Given the description of an element on the screen output the (x, y) to click on. 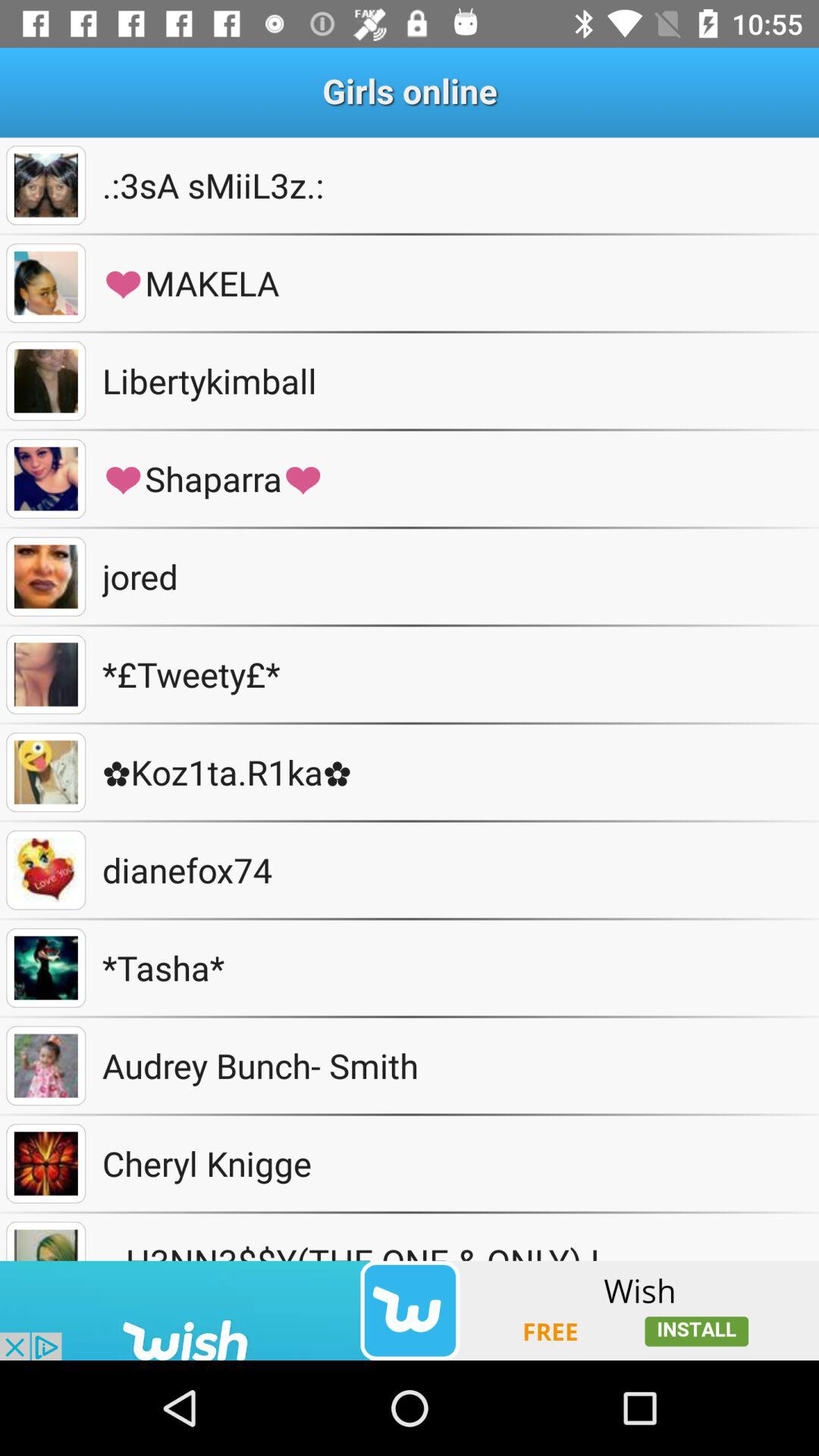
searcher button (45, 185)
